Given the description of an element on the screen output the (x, y) to click on. 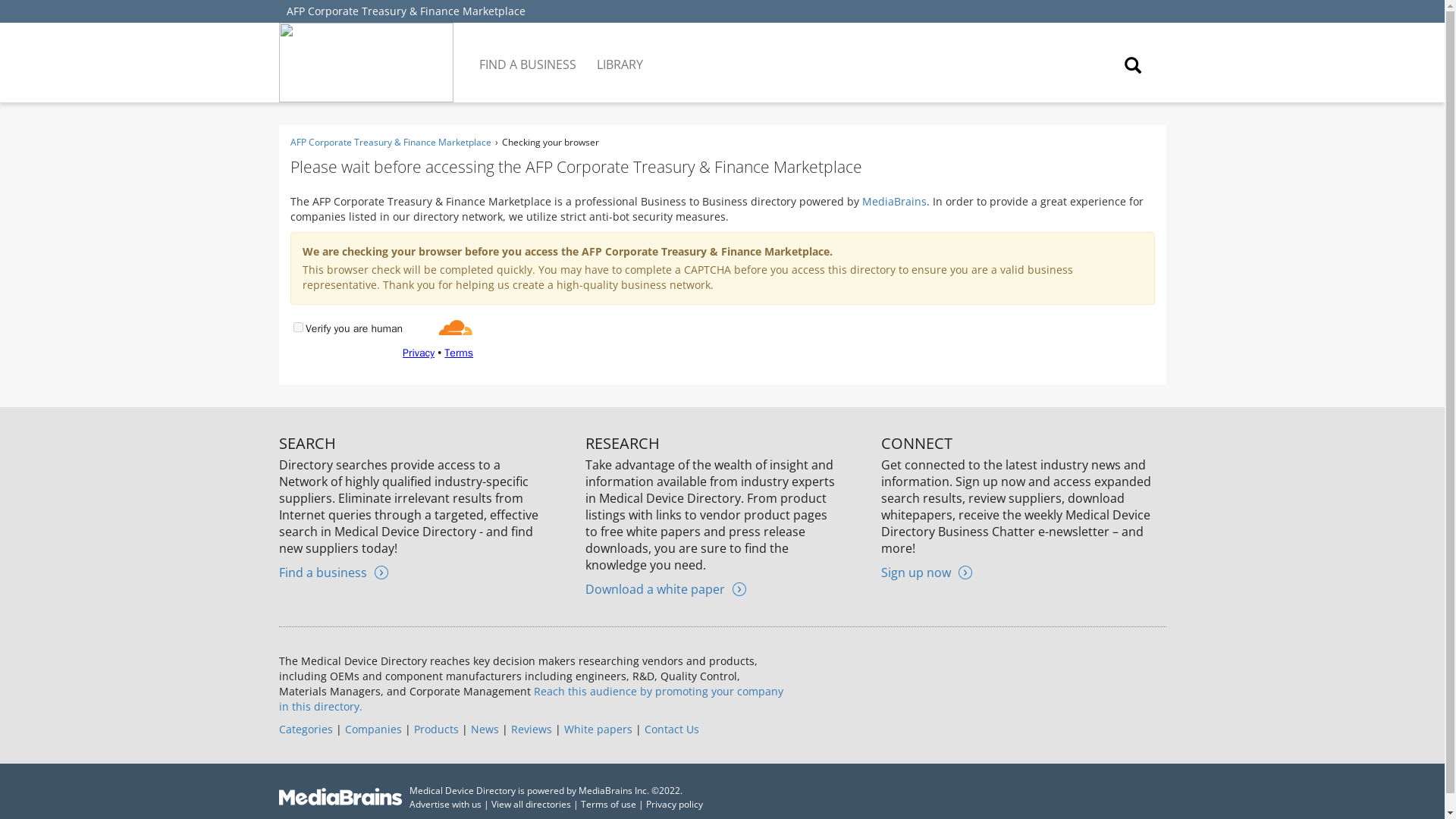
Find a business (333, 572)
Sign up now (926, 572)
Products (435, 728)
MediaBrains (893, 201)
Download a white paper (665, 588)
View all directories (531, 803)
Contact Us (671, 728)
FIND A BUSINESS (528, 52)
Companies (372, 728)
Privacy policy (674, 803)
Advertise with us (445, 803)
LIBRARY (620, 52)
White papers (597, 728)
Categories (306, 728)
